Given the description of an element on the screen output the (x, y) to click on. 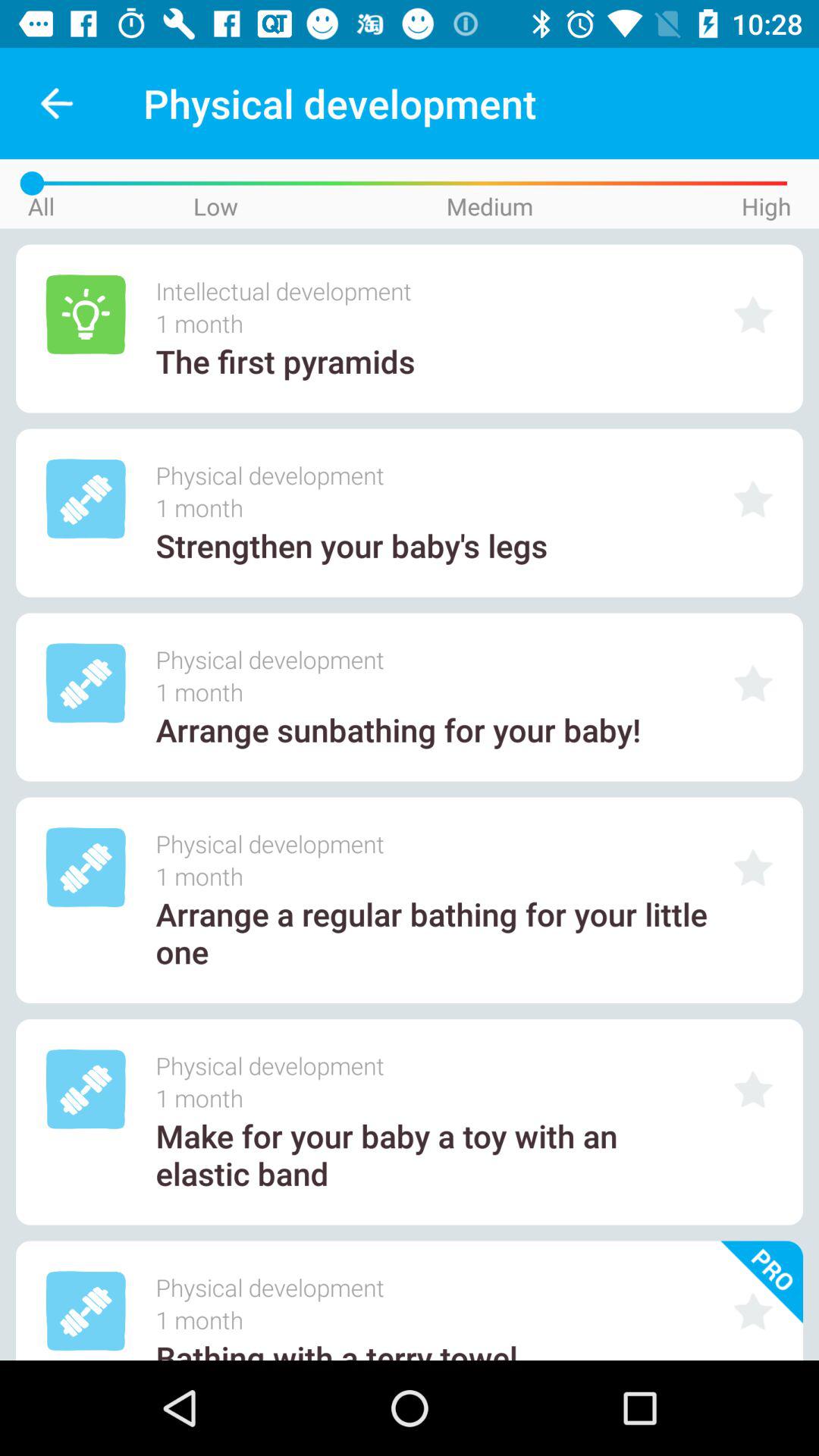
star button (753, 867)
